Given the description of an element on the screen output the (x, y) to click on. 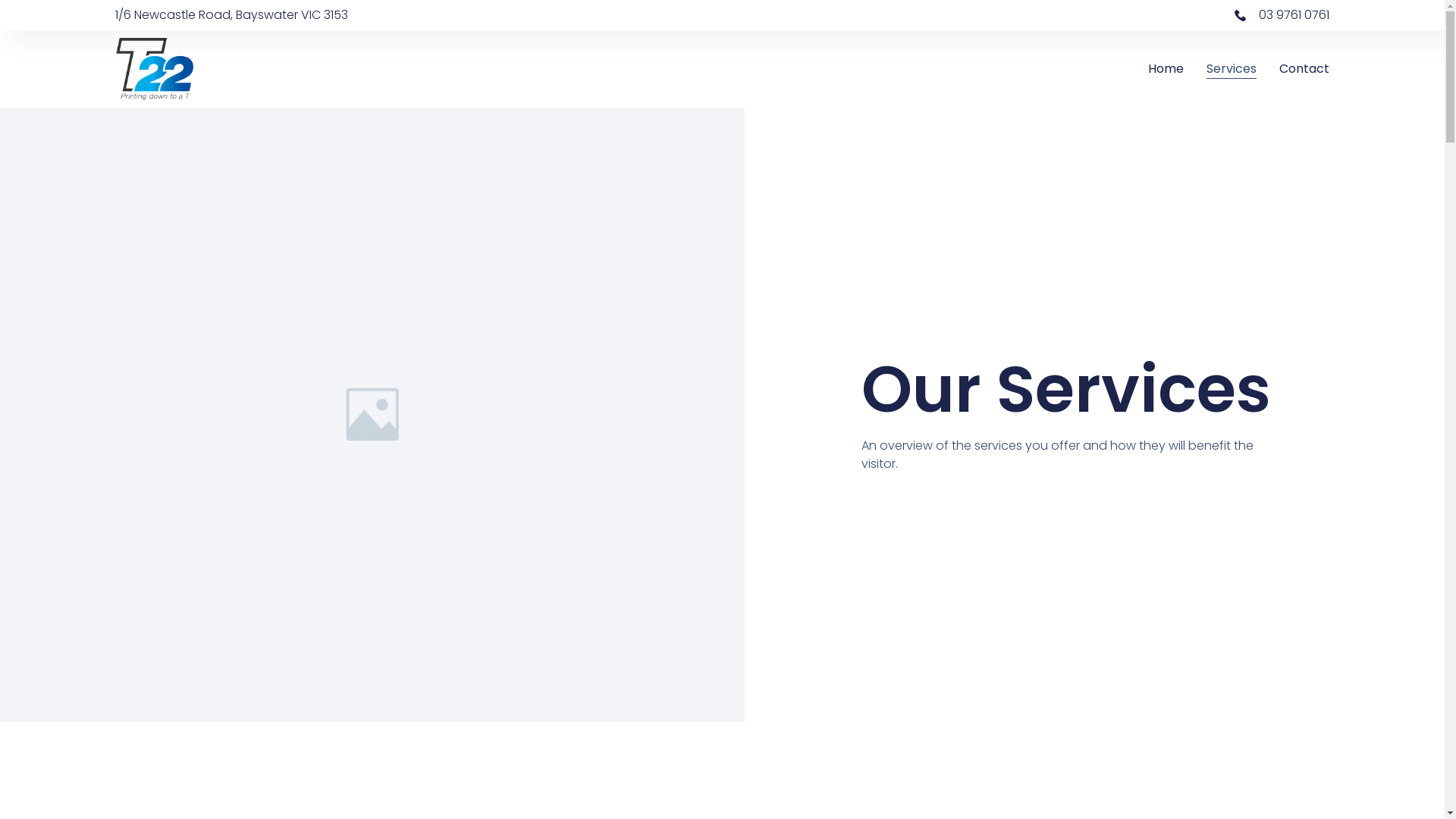
Services Element type: text (1231, 68)
03 9761 0761 Element type: text (1024, 15)
Home Element type: text (1165, 68)
Contact Element type: text (1304, 68)
